Given the description of an element on the screen output the (x, y) to click on. 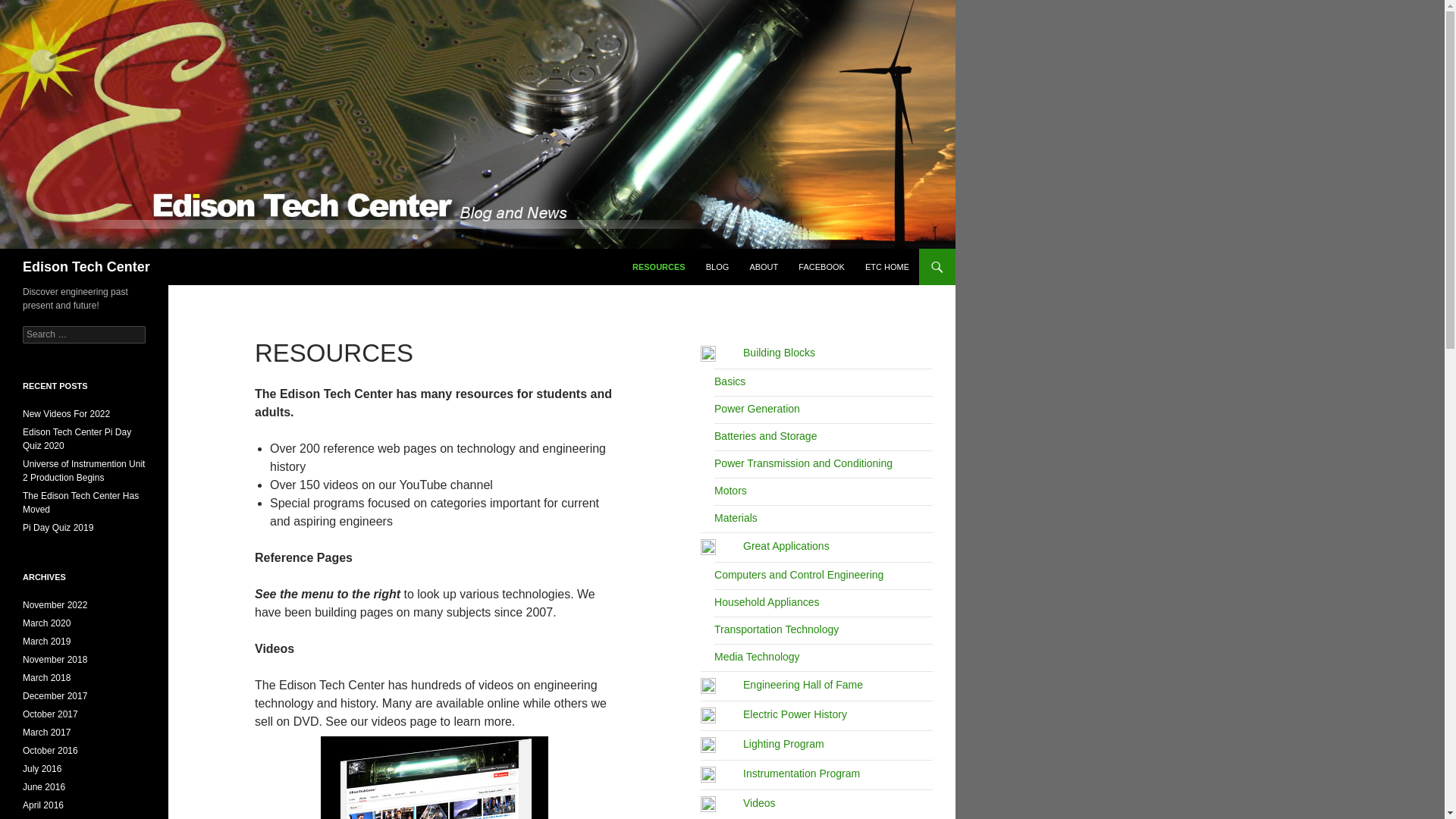
Great Applications (764, 545)
Electric Power History (773, 714)
Transportation Technology (776, 629)
Edison Tech Center (86, 266)
ETC HOME (887, 266)
Materials (735, 517)
Motors (730, 490)
Edison Tech Center Pi Day Quiz 2020 (77, 438)
RESOURCES (658, 266)
ABOUT (763, 266)
